Given the description of an element on the screen output the (x, y) to click on. 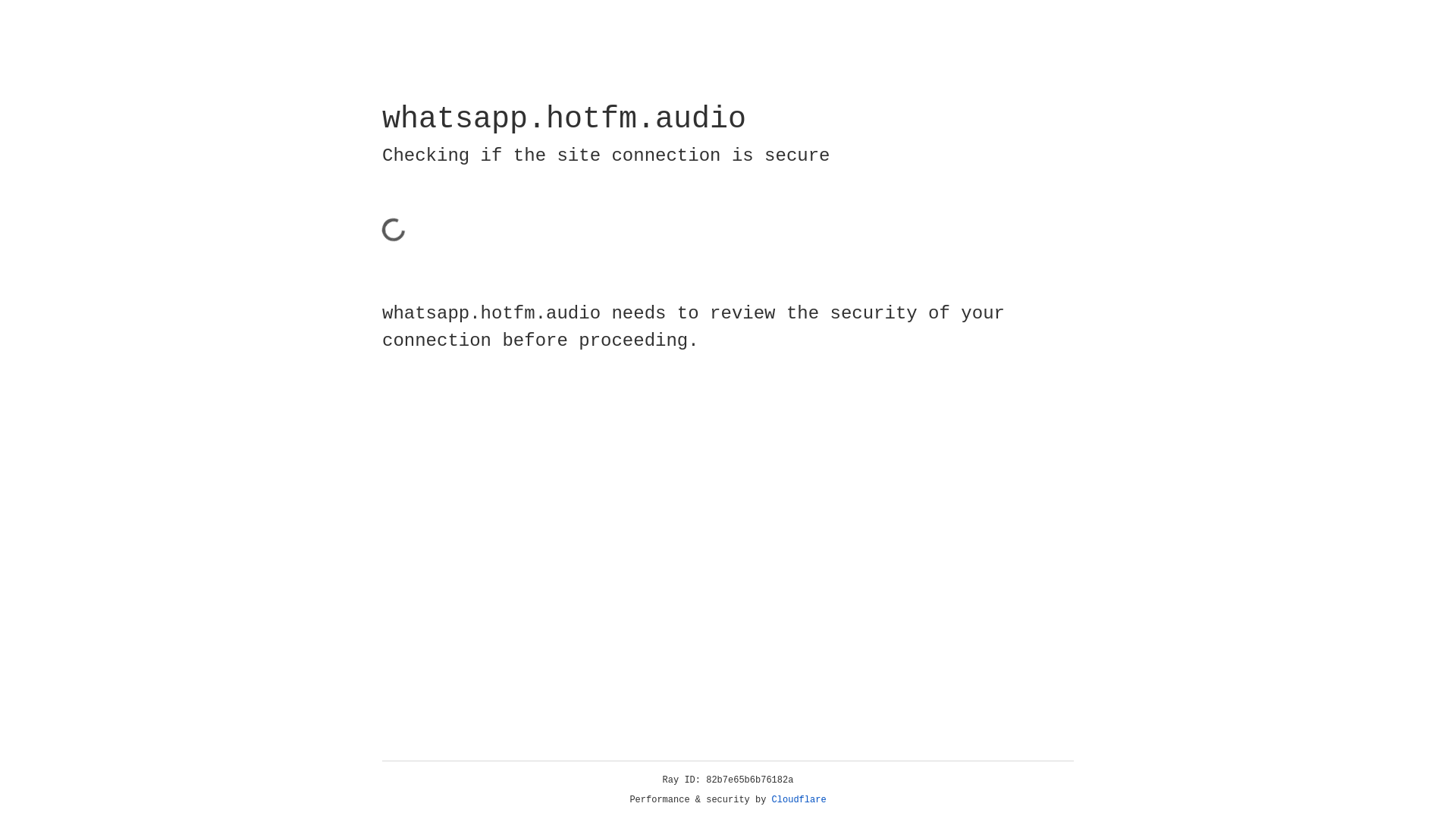
Cloudflare Element type: text (798, 799)
